Given the description of an element on the screen output the (x, y) to click on. 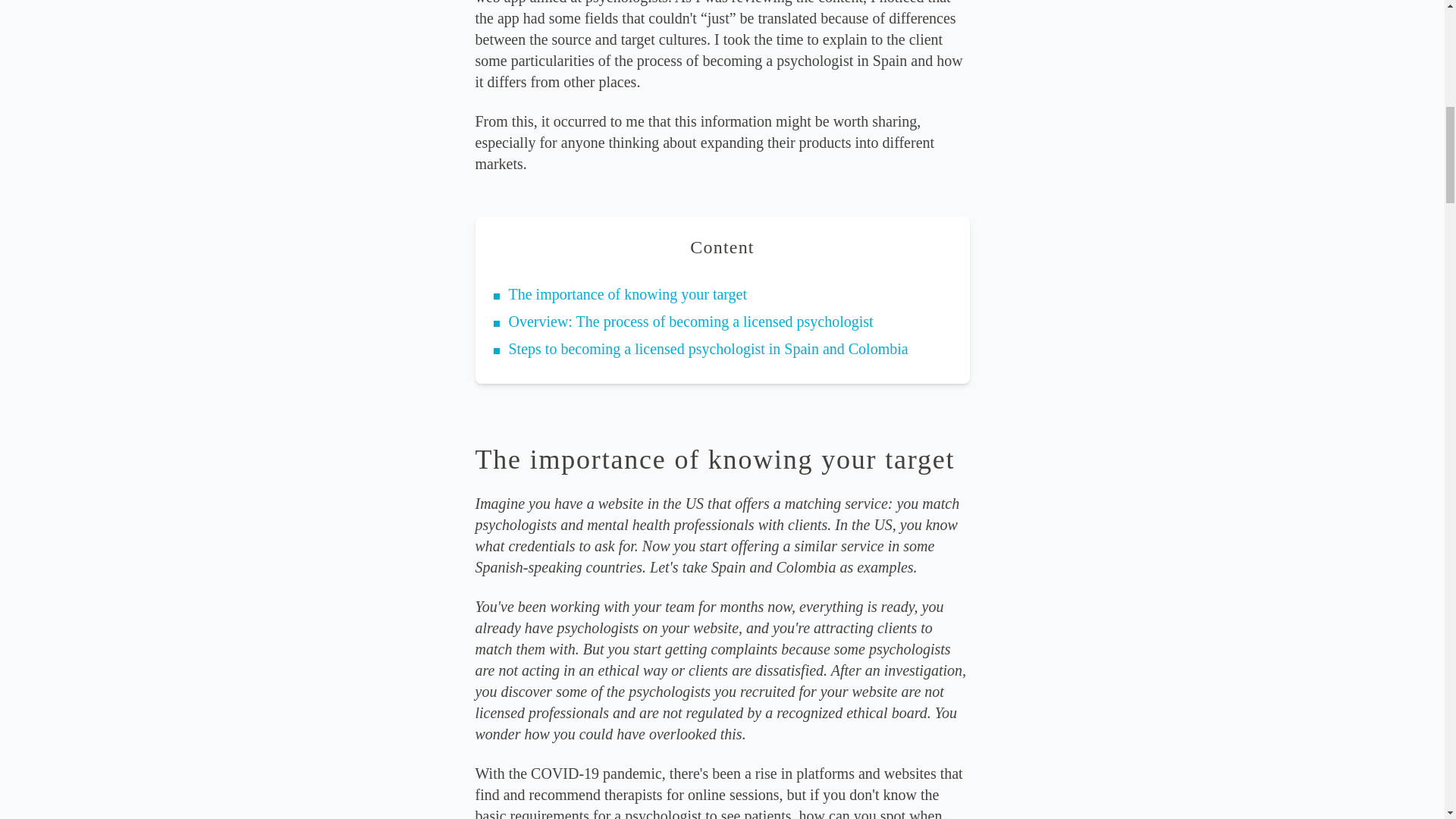
The importance of knowing your target (627, 293)
Overview: The process of becoming a licensed psychologist (690, 321)
